Given the description of an element on the screen output the (x, y) to click on. 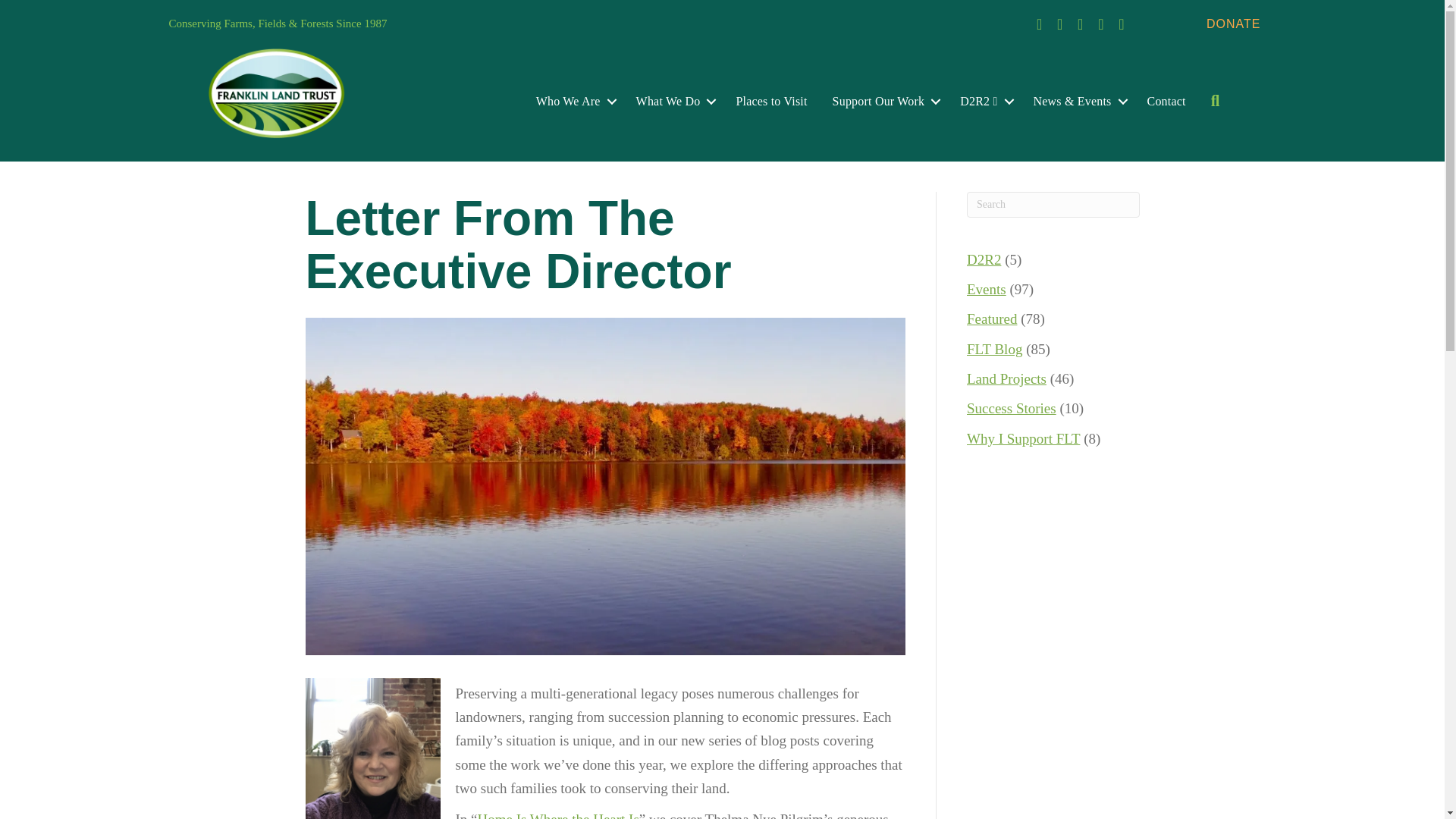
Type and press Enter to search. (1053, 204)
D2R2 (983, 101)
What We Do (673, 101)
Who We Are (573, 101)
Places to Visit (770, 101)
Support Our Work (884, 101)
DONATE (1233, 23)
